Given the description of an element on the screen output the (x, y) to click on. 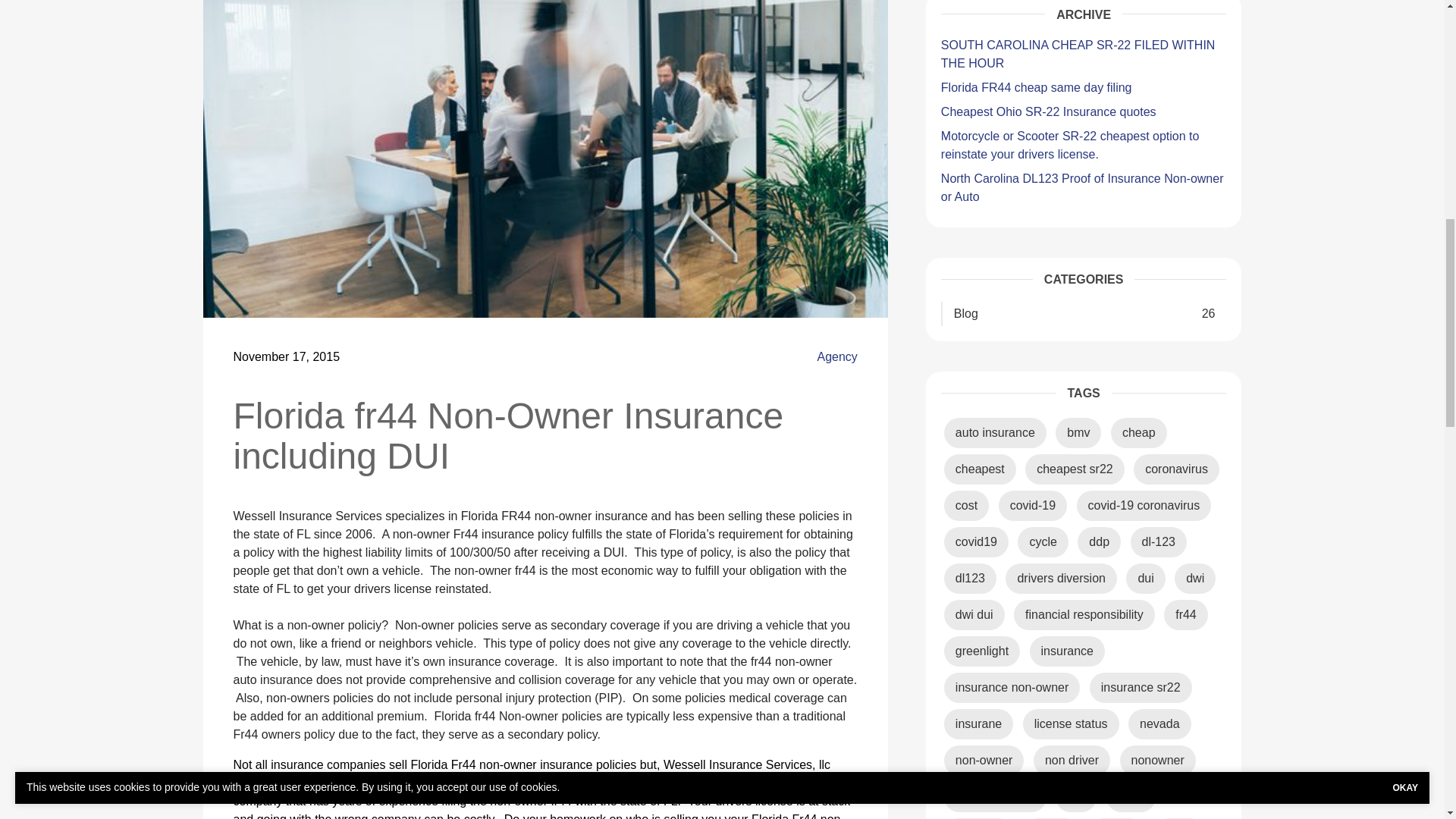
Agency (836, 357)
